Given the description of an element on the screen output the (x, y) to click on. 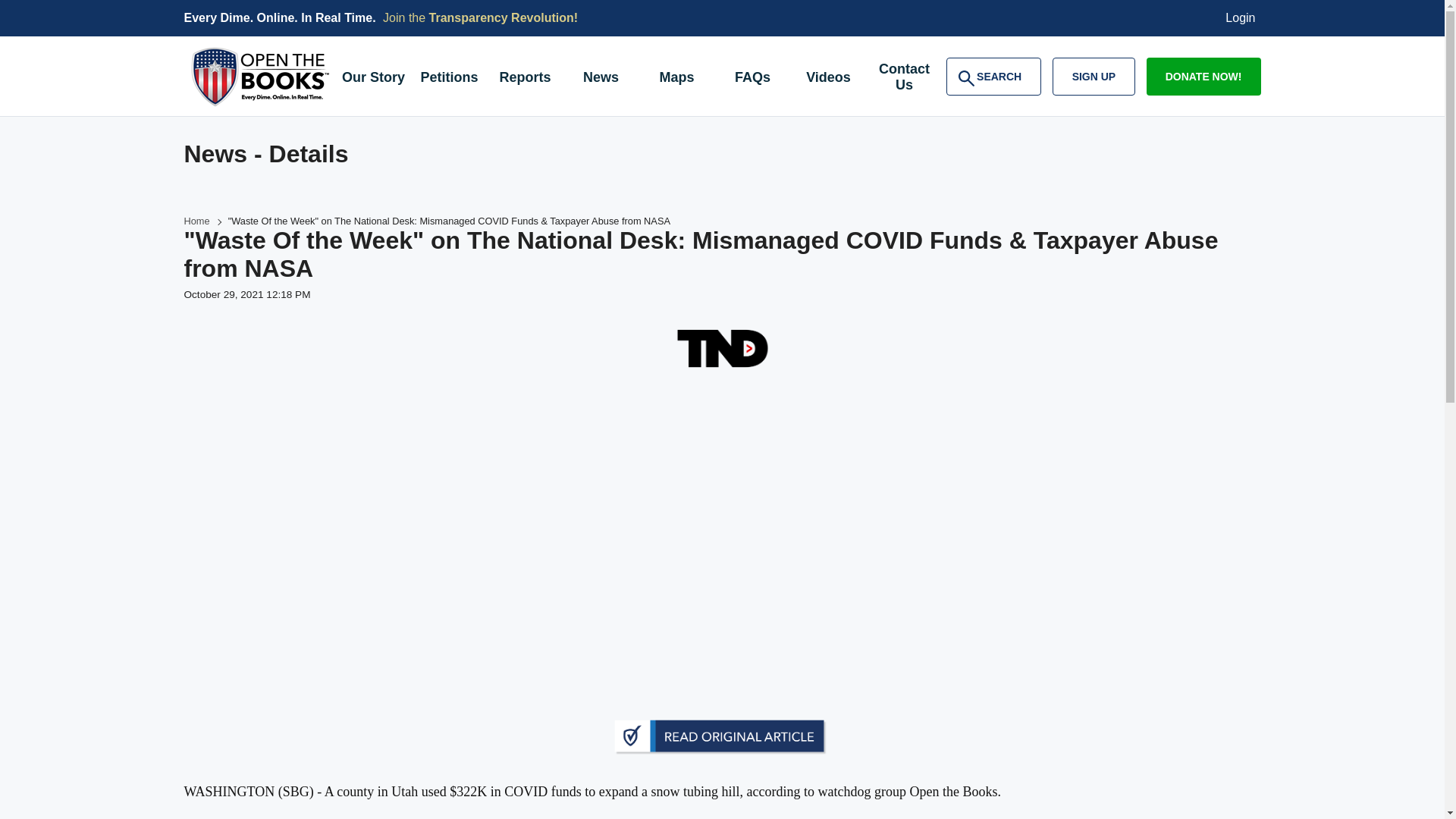
Contact Us (904, 78)
FAQs (752, 78)
Petitions (448, 78)
Maps (676, 78)
DONATE NOW! (1203, 76)
Transparency Revolution! (503, 17)
Videos (828, 78)
Login (1240, 18)
Our Story (372, 78)
Reports (993, 76)
News (524, 78)
SIGN UP (600, 78)
Home (1093, 76)
